Given the description of an element on the screen output the (x, y) to click on. 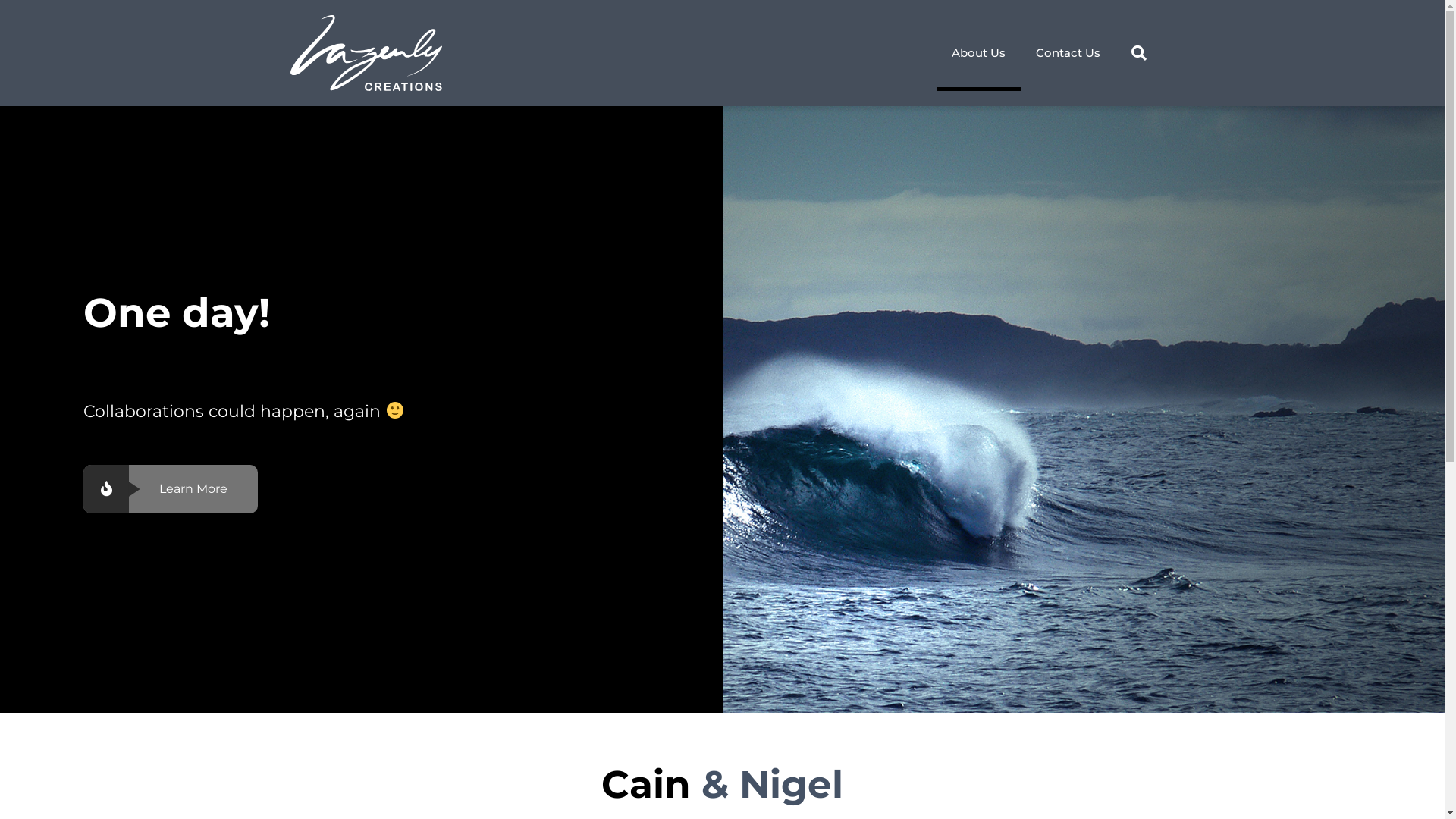
Learn More Element type: text (170, 488)
About Us Element type: text (977, 53)
Contact Us Element type: text (1067, 53)
